Given the description of an element on the screen output the (x, y) to click on. 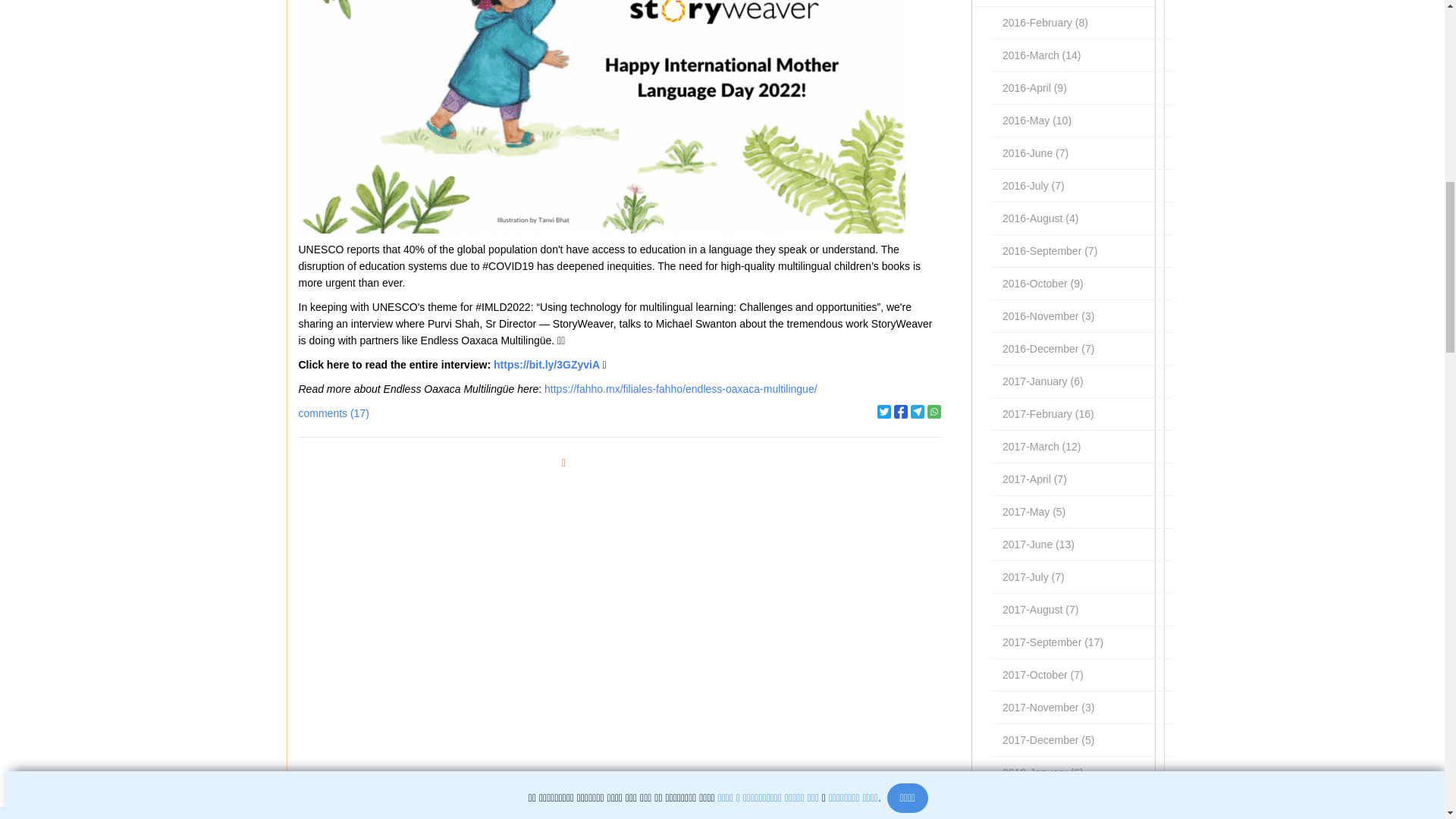
Share to Telegram (917, 411)
Share to Facebook (900, 411)
Share to Twitter (884, 411)
Share to WhatsApp (933, 411)
